Given the description of an element on the screen output the (x, y) to click on. 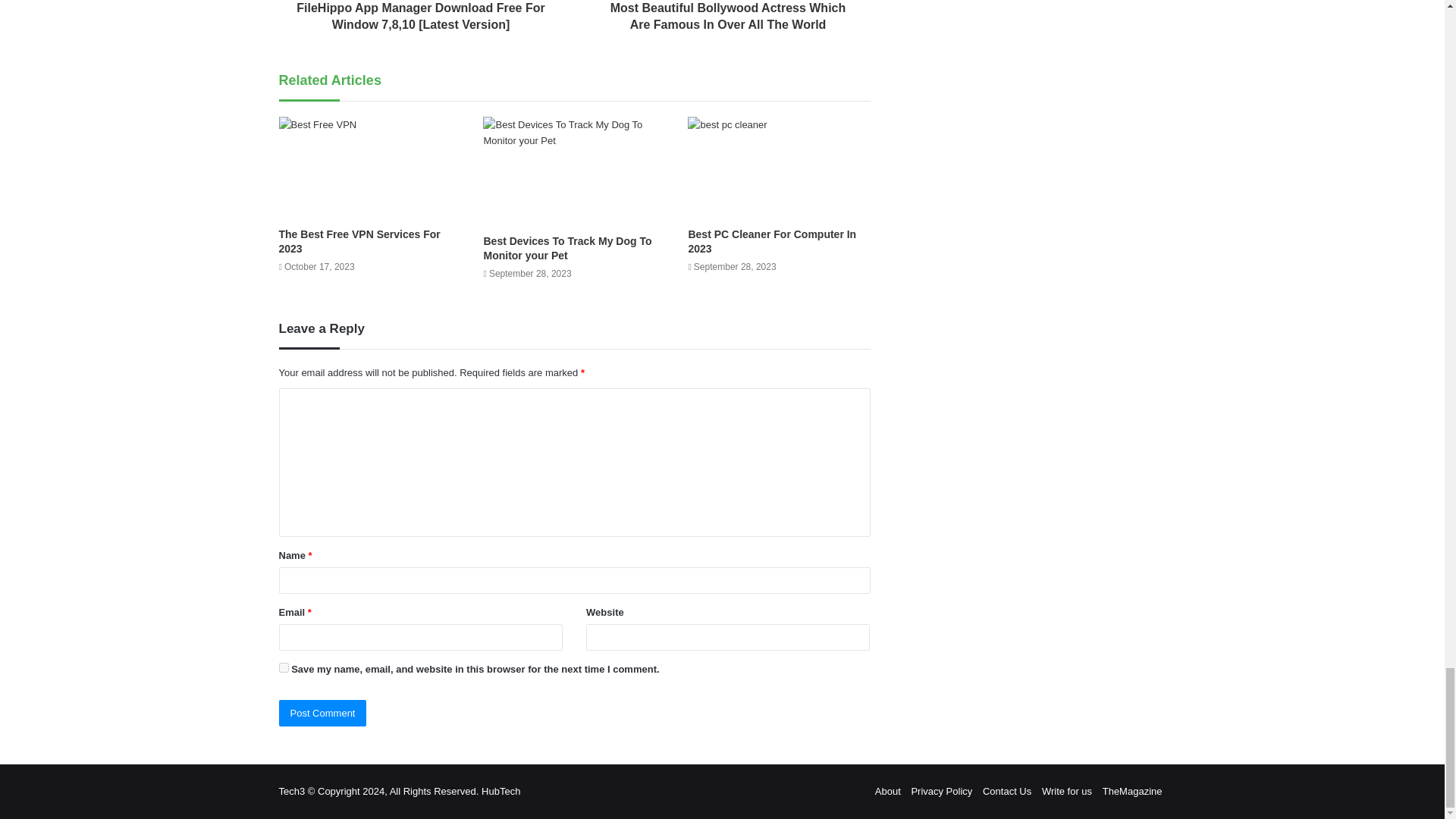
Post Comment (322, 713)
yes (283, 667)
